Given the description of an element on the screen output the (x, y) to click on. 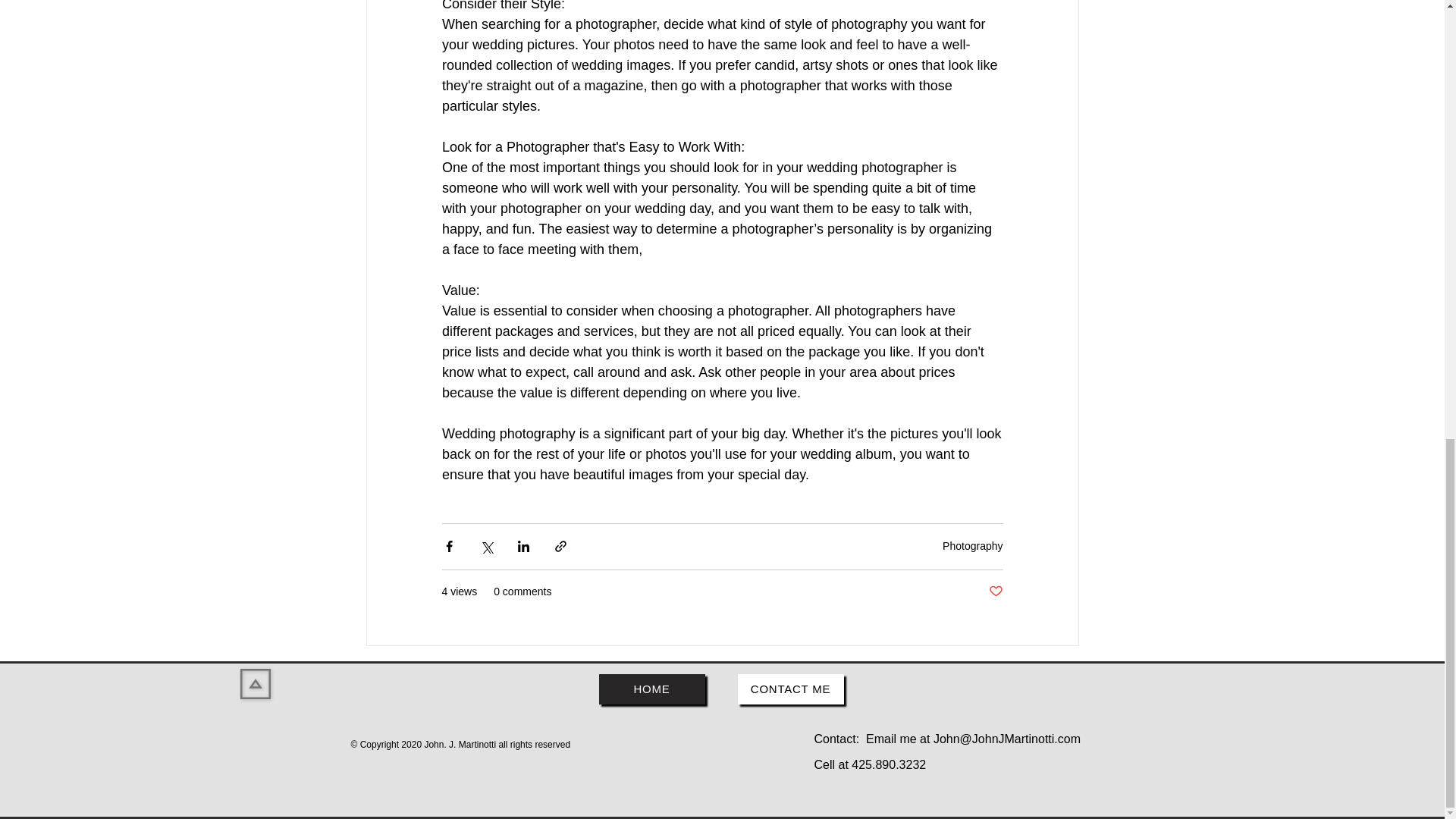
Photography (972, 545)
Cell at 425.890.3232 (869, 764)
Post not marked as liked (995, 591)
HOME (651, 689)
CONTACT ME (789, 689)
